Given the description of an element on the screen output the (x, y) to click on. 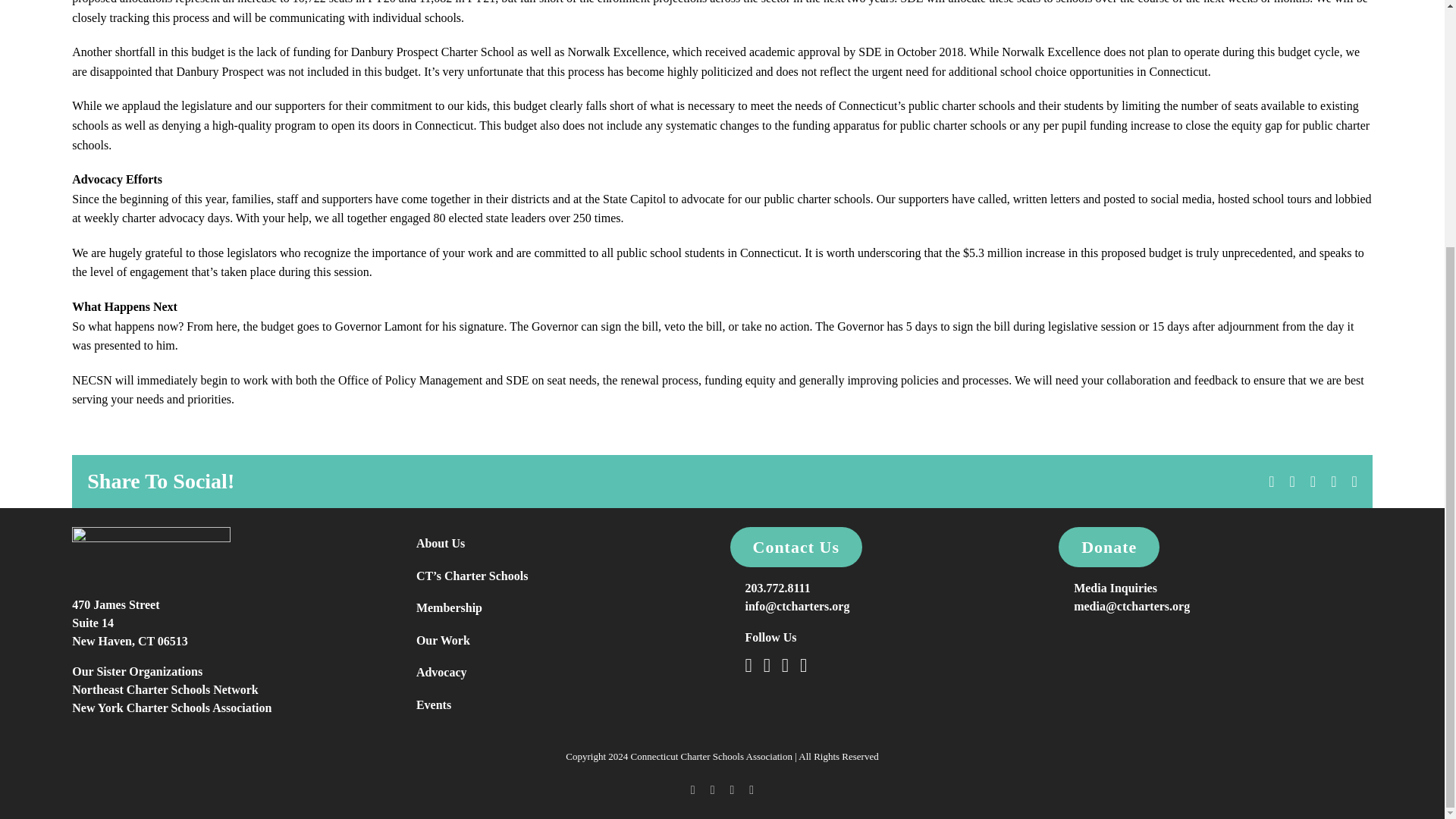
Facebook (747, 665)
Events (557, 705)
Twitter (766, 665)
X (1291, 481)
Advocacy (557, 672)
Email (129, 622)
LinkedIn (1353, 481)
X (1333, 481)
Facebook (1291, 481)
LinkedIn (1271, 481)
X (802, 665)
LinkedIn (712, 789)
Facebook (1333, 481)
Instagram (1271, 481)
